Given the description of an element on the screen output the (x, y) to click on. 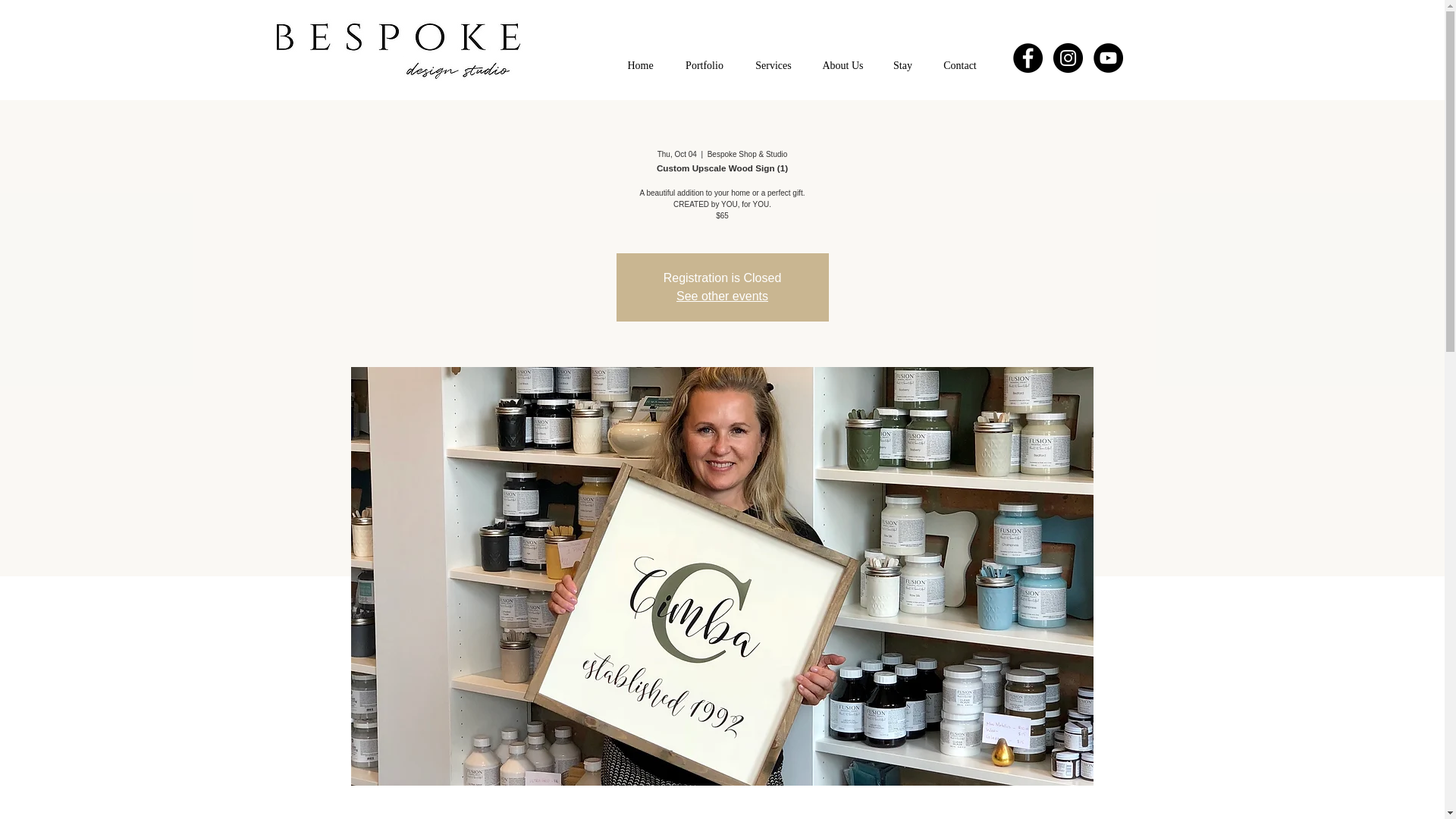
Stay (901, 65)
Contact (959, 65)
Services (773, 65)
Home (639, 65)
See other events (722, 295)
Portfolio (703, 65)
About Us (841, 65)
